Given the description of an element on the screen output the (x, y) to click on. 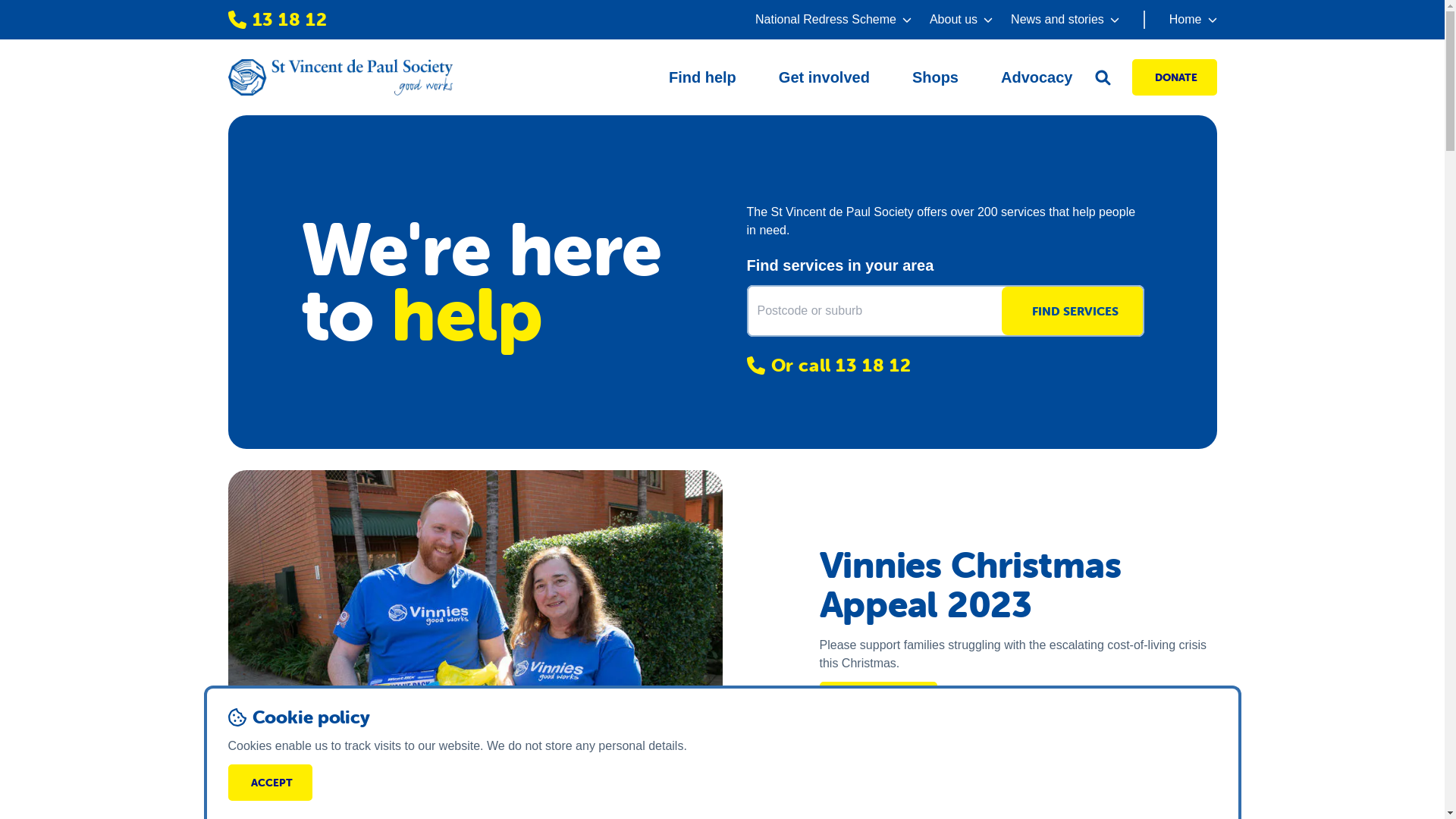
Advocacy Element type: text (1037, 76)
13 18 12 Element type: text (276, 19)
News and stories Element type: text (1064, 19)
ACCEPT Element type: text (269, 782)
Shops Element type: text (935, 76)
FIND SERVICES Element type: text (1071, 310)
QUICK EXIT Element type: text (1152, 769)
DONATE Element type: text (1173, 77)
National Redress Scheme Element type: text (833, 19)
Home Element type: text (1180, 19)
About us Element type: text (960, 19)
Find help Element type: text (702, 76)
Get involved Element type: text (823, 76)
DONATE NOW Element type: text (877, 698)
Or call 13 18 12 Element type: text (944, 365)
